Given the description of an element on the screen output the (x, y) to click on. 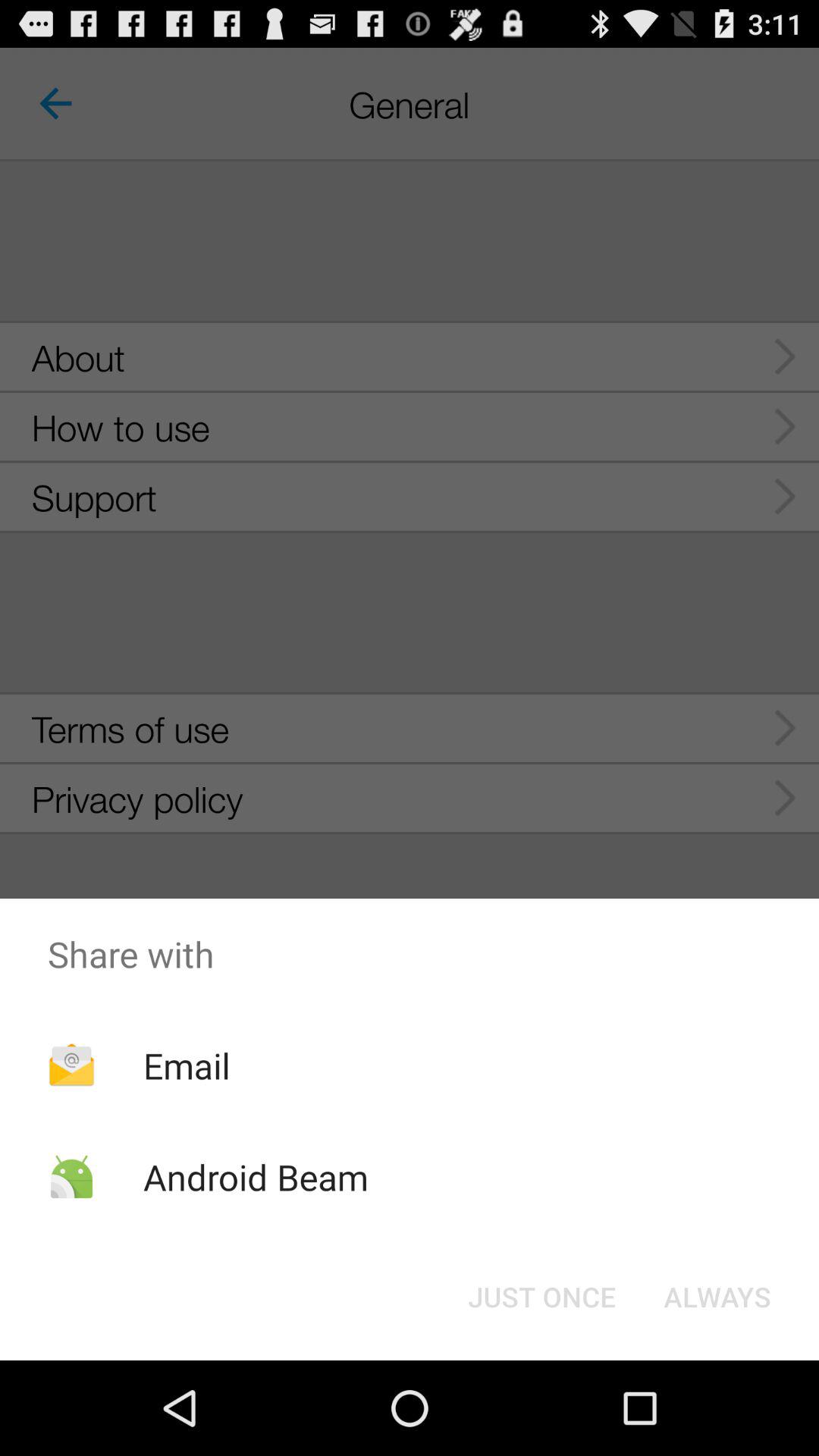
open android beam app (255, 1176)
